Given the description of an element on the screen output the (x, y) to click on. 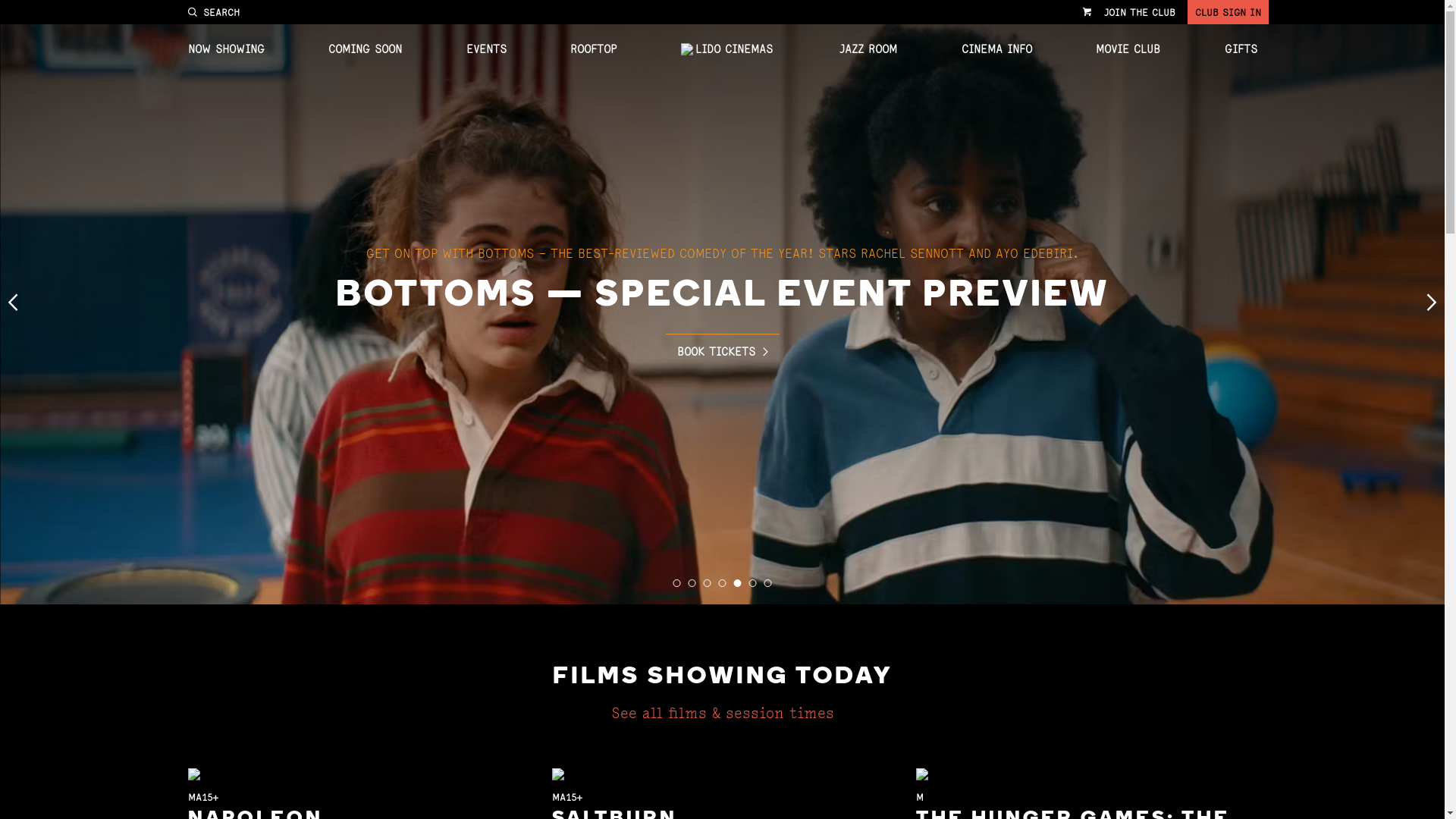
EVENTS Element type: text (485, 49)
JOIN THE CLUB Element type: text (1139, 12)
NOW SHOWING Element type: text (226, 49)
CINEMA INFO Element type: text (996, 49)
COMING SOON Element type: text (364, 49)
CLUB SIGN IN Element type: text (1227, 12)
SEARCH Element type: text (213, 12)
MOVIE CLUB Element type: text (1127, 49)
BOOK TICKETS Element type: text (722, 345)
ROOFTOP Element type: text (593, 49)
JAZZ ROOM Element type: text (868, 49)
GIFTS Element type: text (1239, 49)
See all films & session times Element type: text (722, 712)
VIEW CART Element type: text (1087, 12)
